Given the description of an element on the screen output the (x, y) to click on. 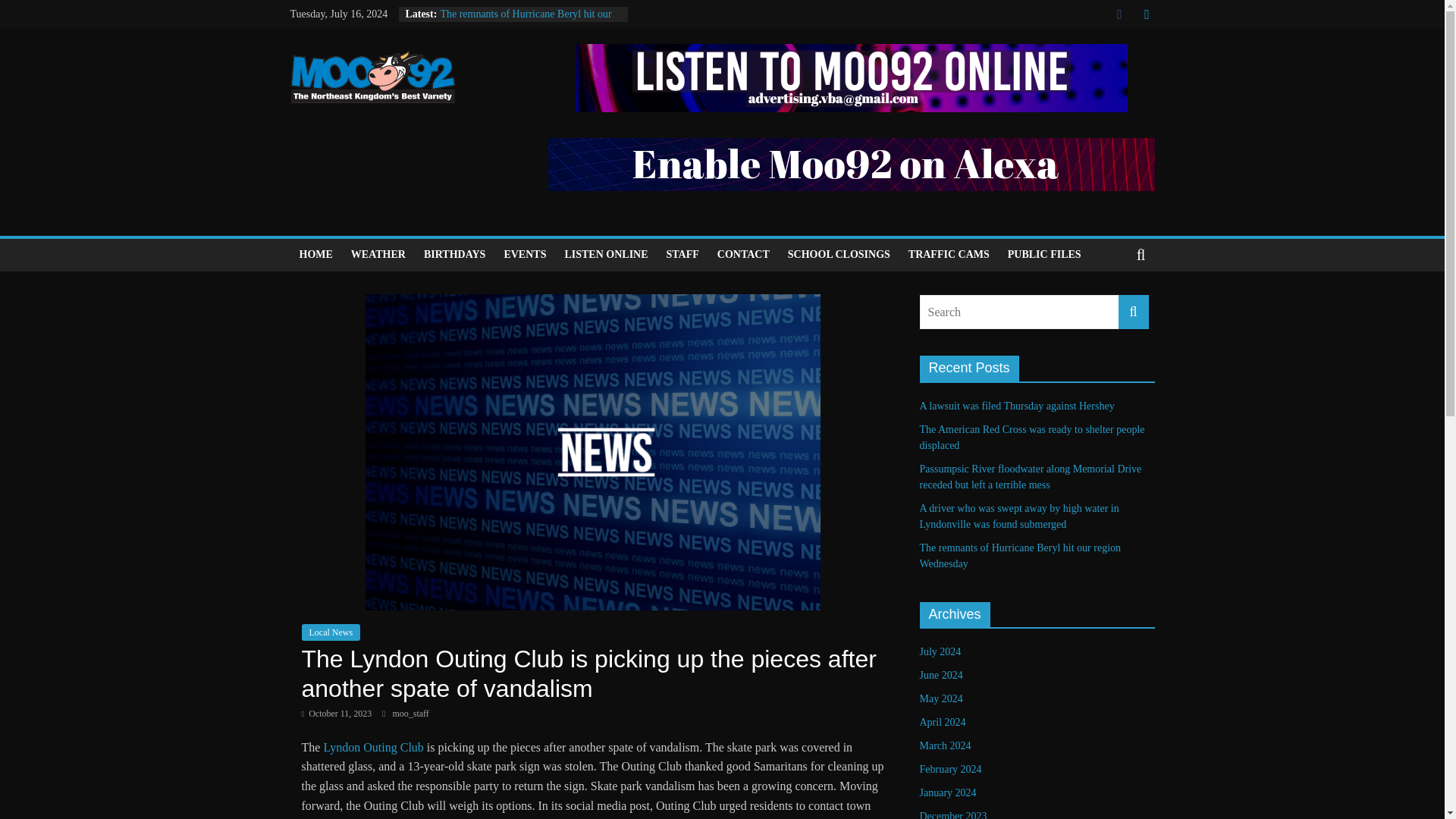
The remnants of Hurricane Beryl hit our region Wednesday (525, 21)
BIRTHDAYS (454, 255)
A lawsuit was filed Thursday against Hershey (1015, 405)
EVENTS (524, 255)
June 2024 (940, 674)
PUBLIC FILES (1044, 255)
Lyndon Outing Club (373, 747)
LISTEN ONLINE (605, 255)
The American Red Cross was ready to shelter people displaced (1031, 437)
10:47 am (336, 713)
July 2024 (939, 651)
Lyndon Outing Club (457, 658)
SCHOOL CLOSINGS (838, 255)
WEATHER (378, 255)
